Given the description of an element on the screen output the (x, y) to click on. 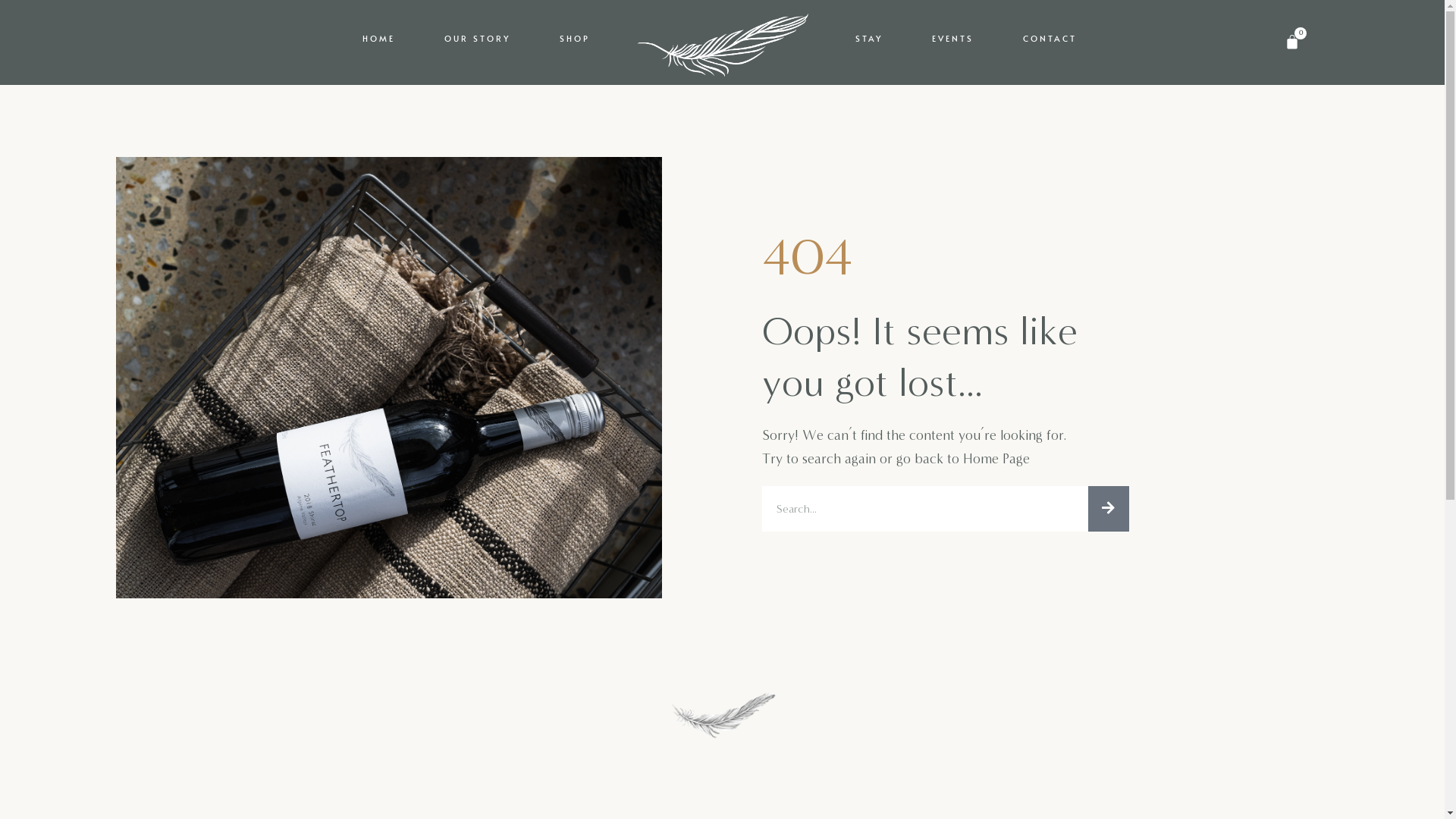
STAY Element type: text (868, 38)
SHOP Element type: text (573, 38)
OUR STORY Element type: text (476, 38)
Search Element type: hover (1107, 508)
0 Element type: text (1292, 42)
EVENTS Element type: text (952, 38)
HOME Element type: text (377, 38)
CONTACT Element type: text (1049, 38)
Search Element type: hover (924, 508)
